Given the description of an element on the screen output the (x, y) to click on. 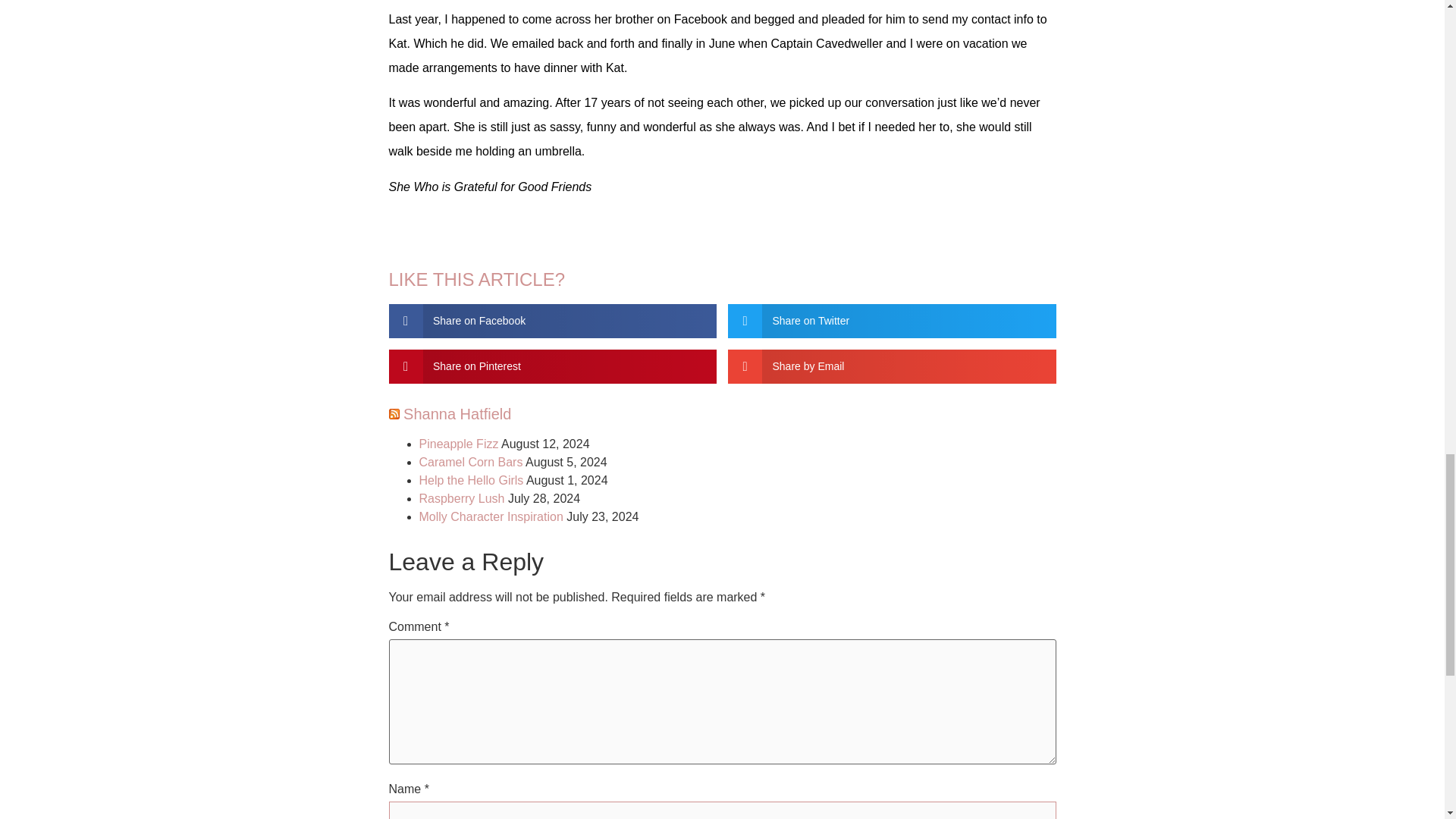
Caramel Corn Bars (470, 461)
Raspberry Lush (461, 498)
Pineapple Fizz (458, 443)
Shanna Hatfield (457, 413)
Help the Hello Girls (470, 480)
Molly Character Inspiration (490, 516)
